Given the description of an element on the screen output the (x, y) to click on. 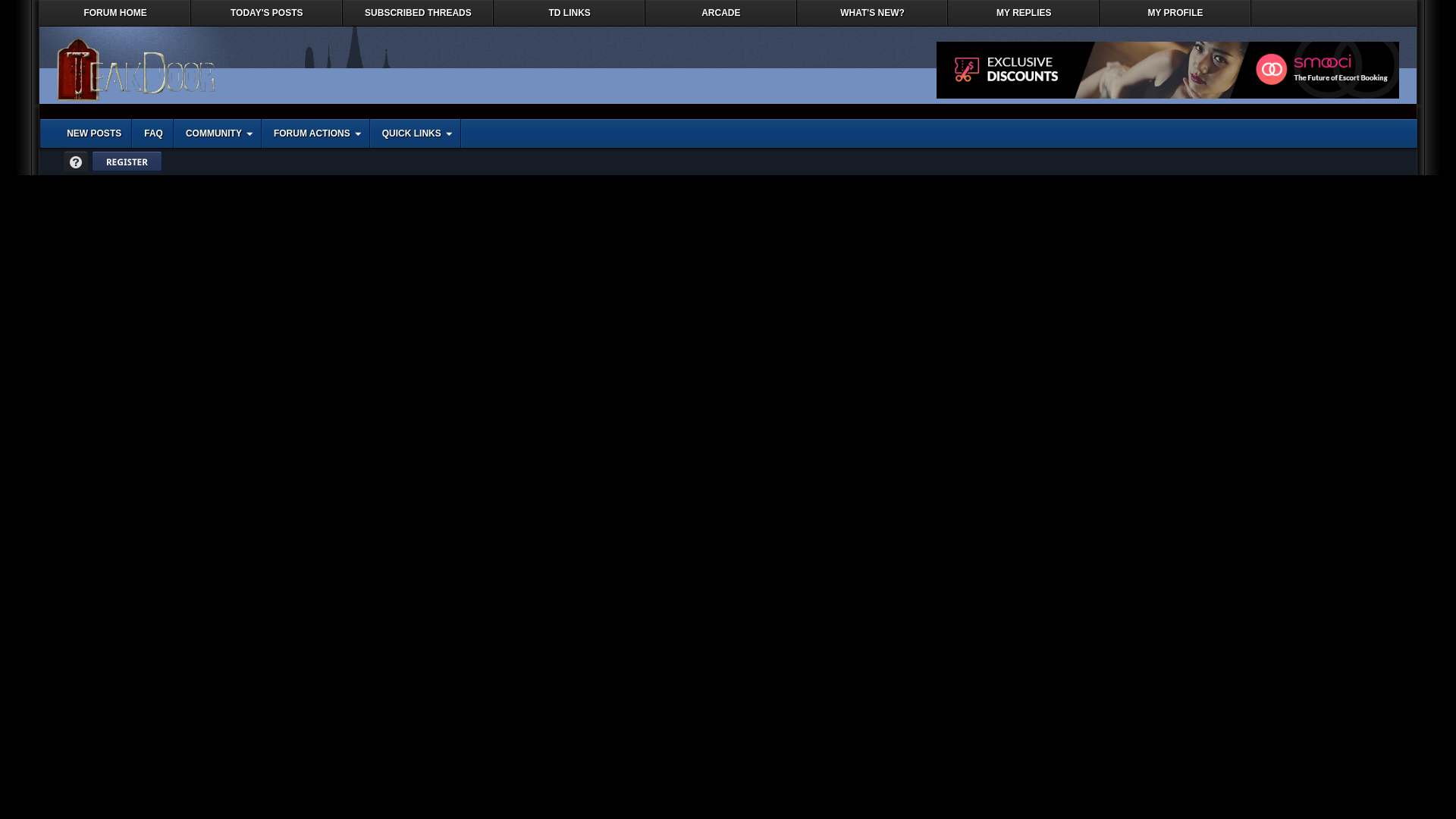
MY REPLIES (1023, 13)
FORUM ACTIONS (312, 133)
TD LINKS (569, 13)
COMMUNITY (214, 133)
SUBSCRIBED THREADS (418, 13)
ARCADE (720, 13)
Smooci (1167, 69)
FAQ (153, 133)
WHAT'S NEW? (872, 13)
FORUM HOME (114, 13)
QUICK LINKS (412, 133)
TODAY'S POSTS (266, 13)
NEW POSTS (93, 133)
